Given the description of an element on the screen output the (x, y) to click on. 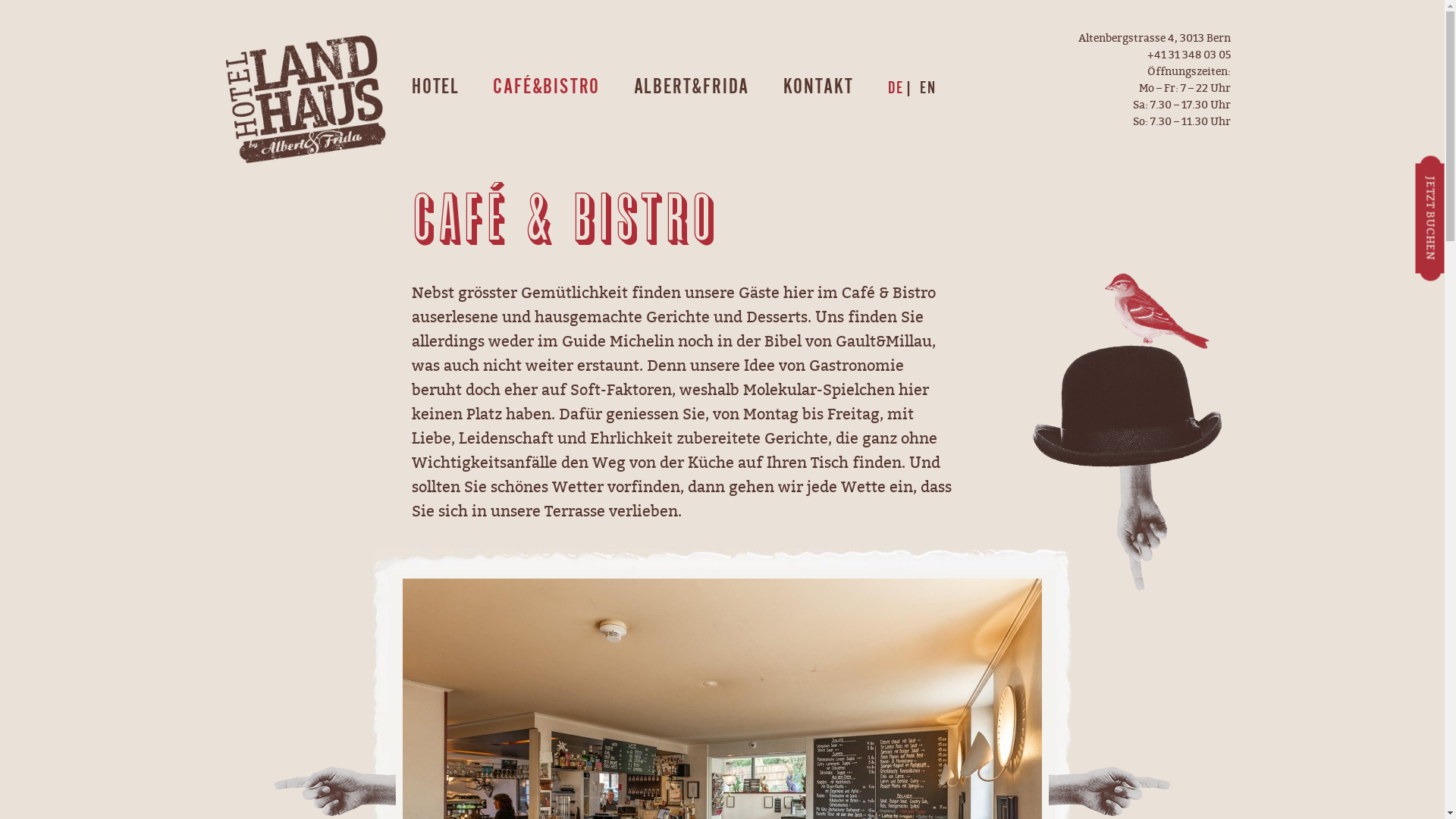
ALBERT&FRIDA Element type: text (691, 86)
KONTAKT Element type: text (818, 86)
HOTEL Element type: text (435, 86)
Altenbergstrasse 4, 3013 Bern Element type: text (1154, 37)
DE Element type: text (893, 87)
+41 31 348 03 05 Element type: text (1188, 54)
Hotel Landhaus by Albert & Frida Element type: hover (305, 99)
EN Element type: text (927, 87)
weiter Element type: hover (1109, 791)
